Given the description of an element on the screen output the (x, y) to click on. 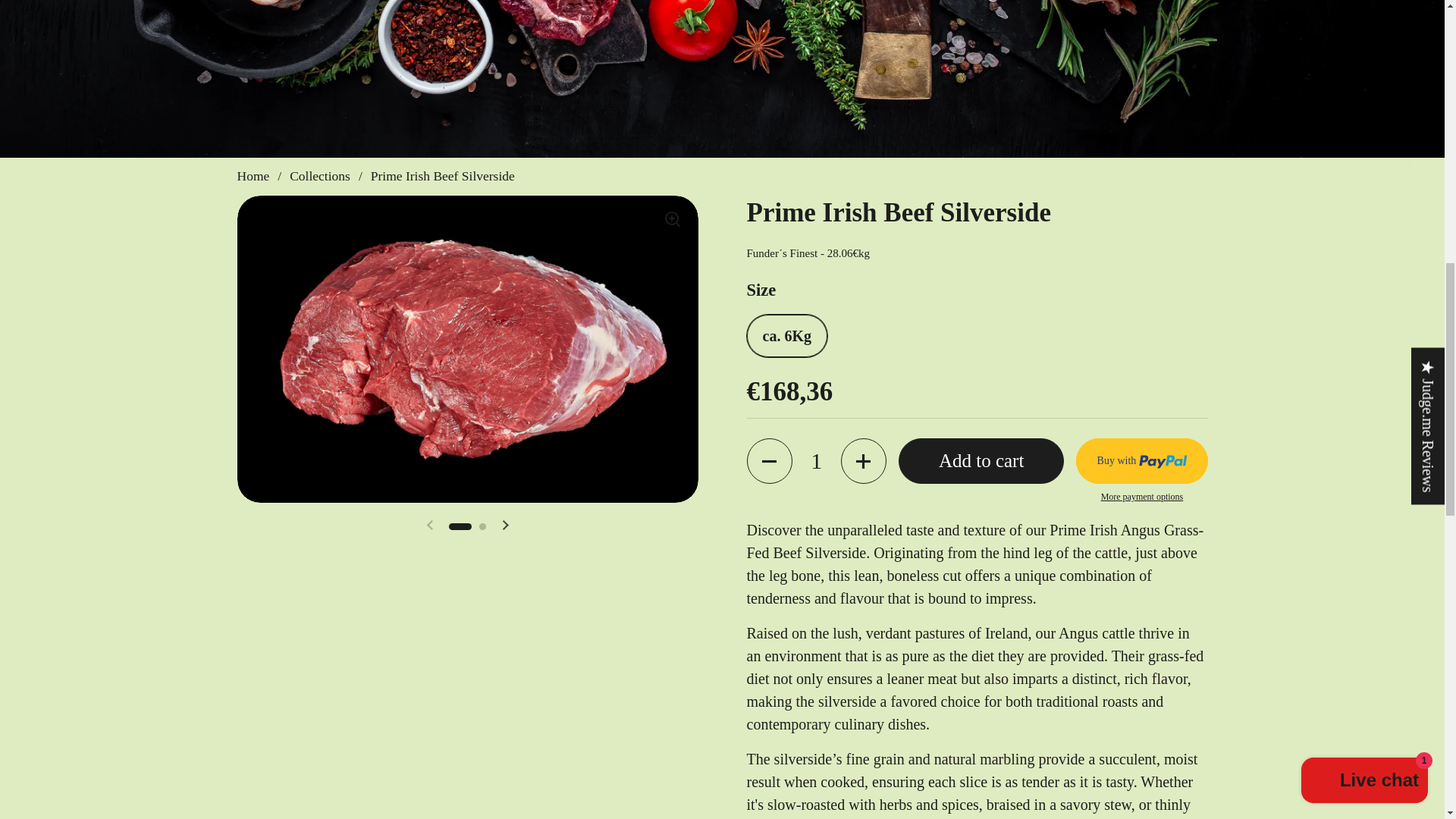
1 (816, 461)
